Given the description of an element on the screen output the (x, y) to click on. 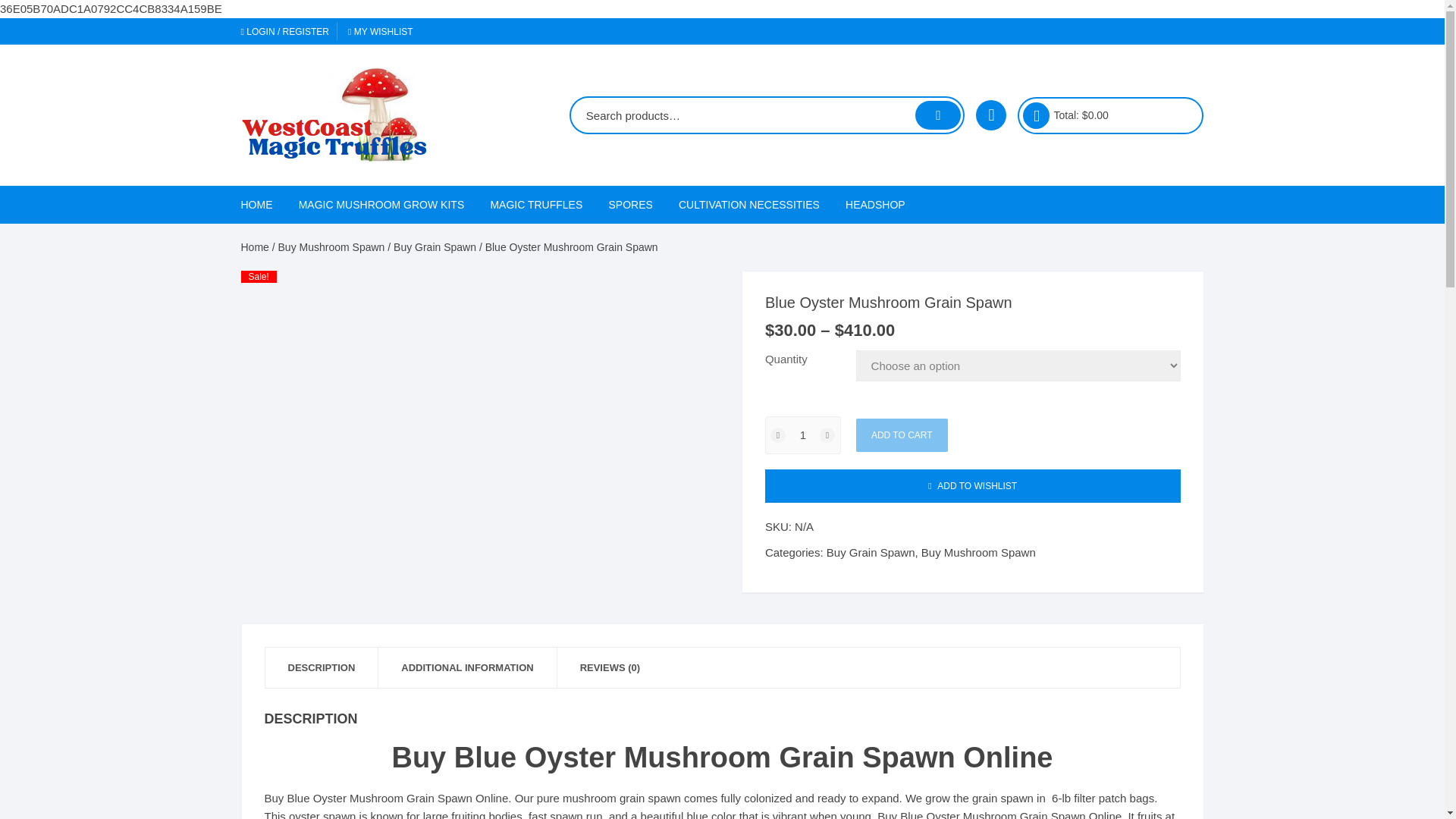
HEADSHOP (875, 204)
Spore vials Magic Truffles (691, 434)
Containers (761, 241)
Grow Kits without Mycelium (381, 346)
SPORES (629, 204)
Humidity (761, 387)
Rolling Papers (928, 387)
Spore Prints Psilocybe cubensis (691, 354)
Colonization and Inoculation (761, 459)
Temperature (761, 350)
